Given the description of an element on the screen output the (x, y) to click on. 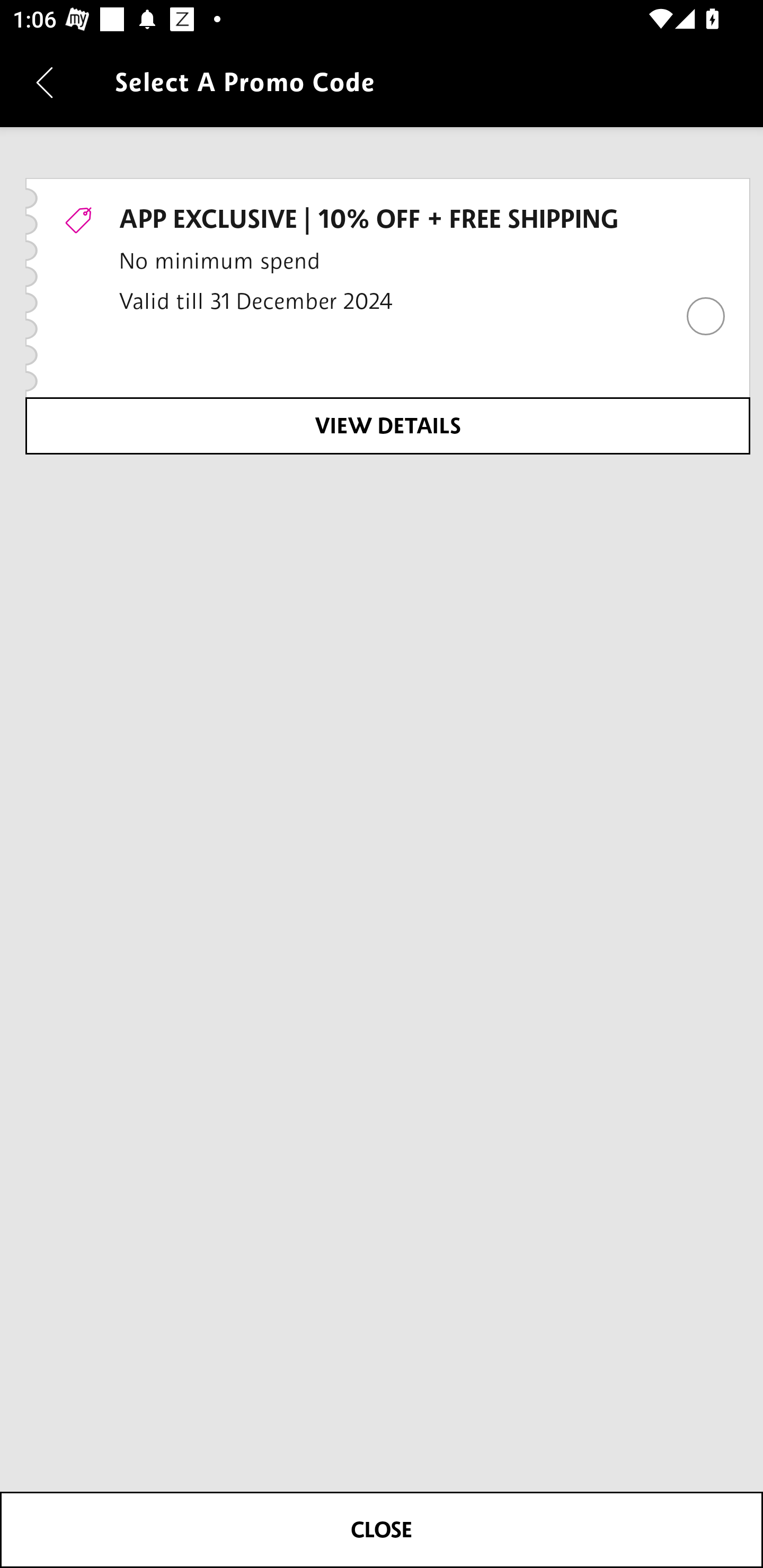
Navigate up (44, 82)
VIEW DETAILS (387, 425)
APPLY (381, 1529)
